Given the description of an element on the screen output the (x, y) to click on. 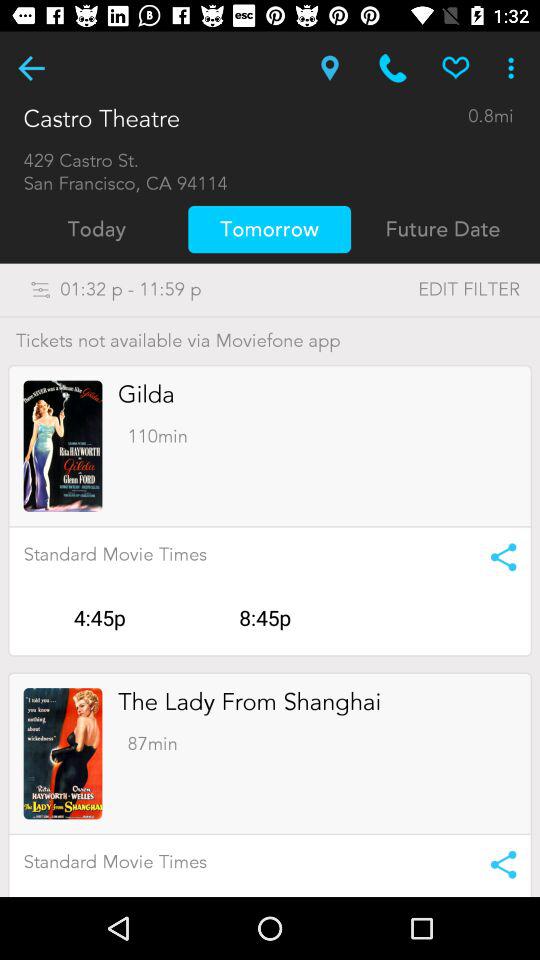
he would be a person who does not see but has total control of what is around him (31, 67)
